Given the description of an element on the screen output the (x, y) to click on. 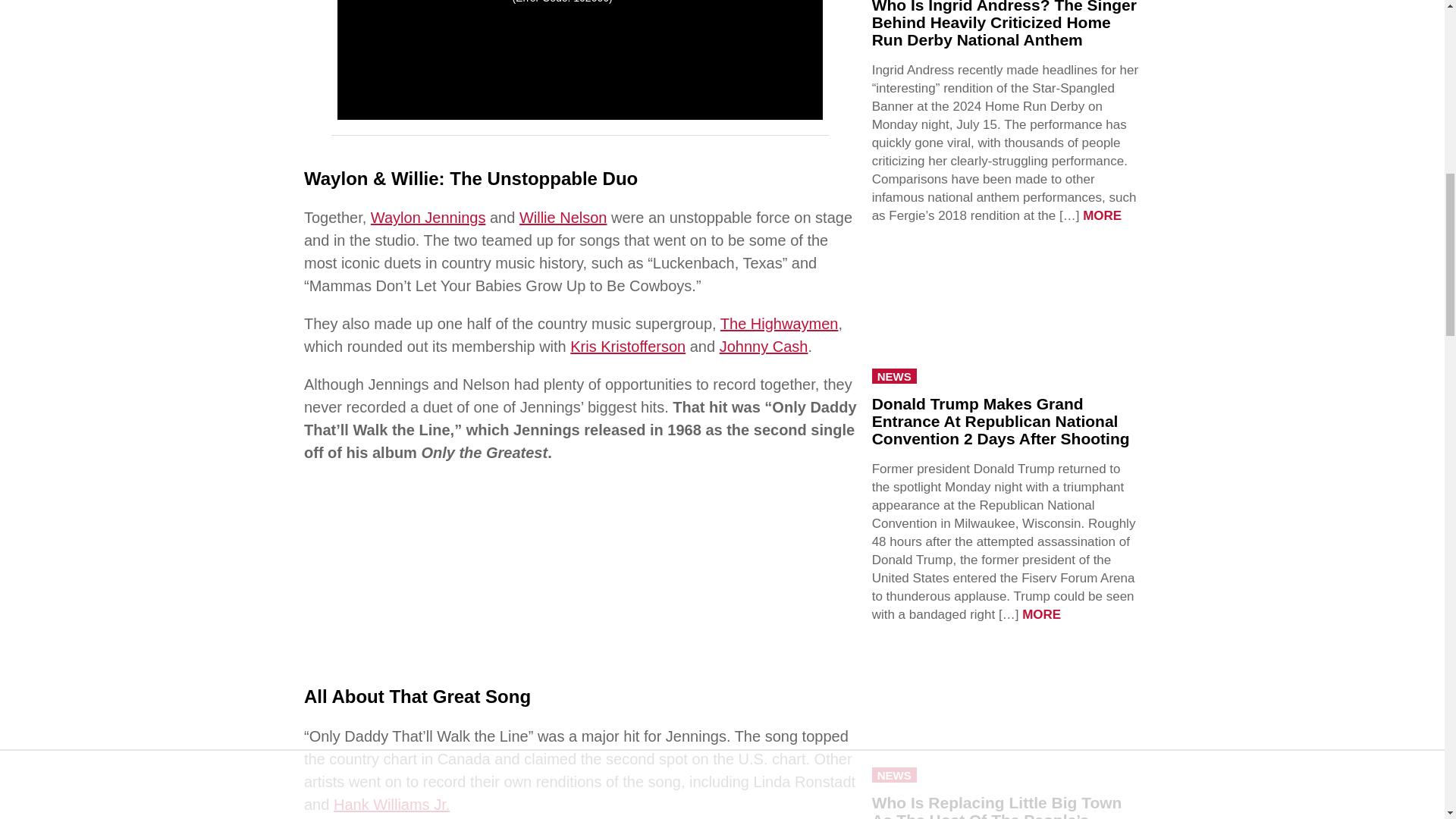
Waylon Jennings (428, 217)
trump rnc header (1006, 315)
Willie Nelson (563, 217)
Kris Kristofferson (627, 346)
The Highwaymen (779, 323)
Hank Williams Jr. (391, 804)
Johnny Cash (763, 346)
